Given the description of an element on the screen output the (x, y) to click on. 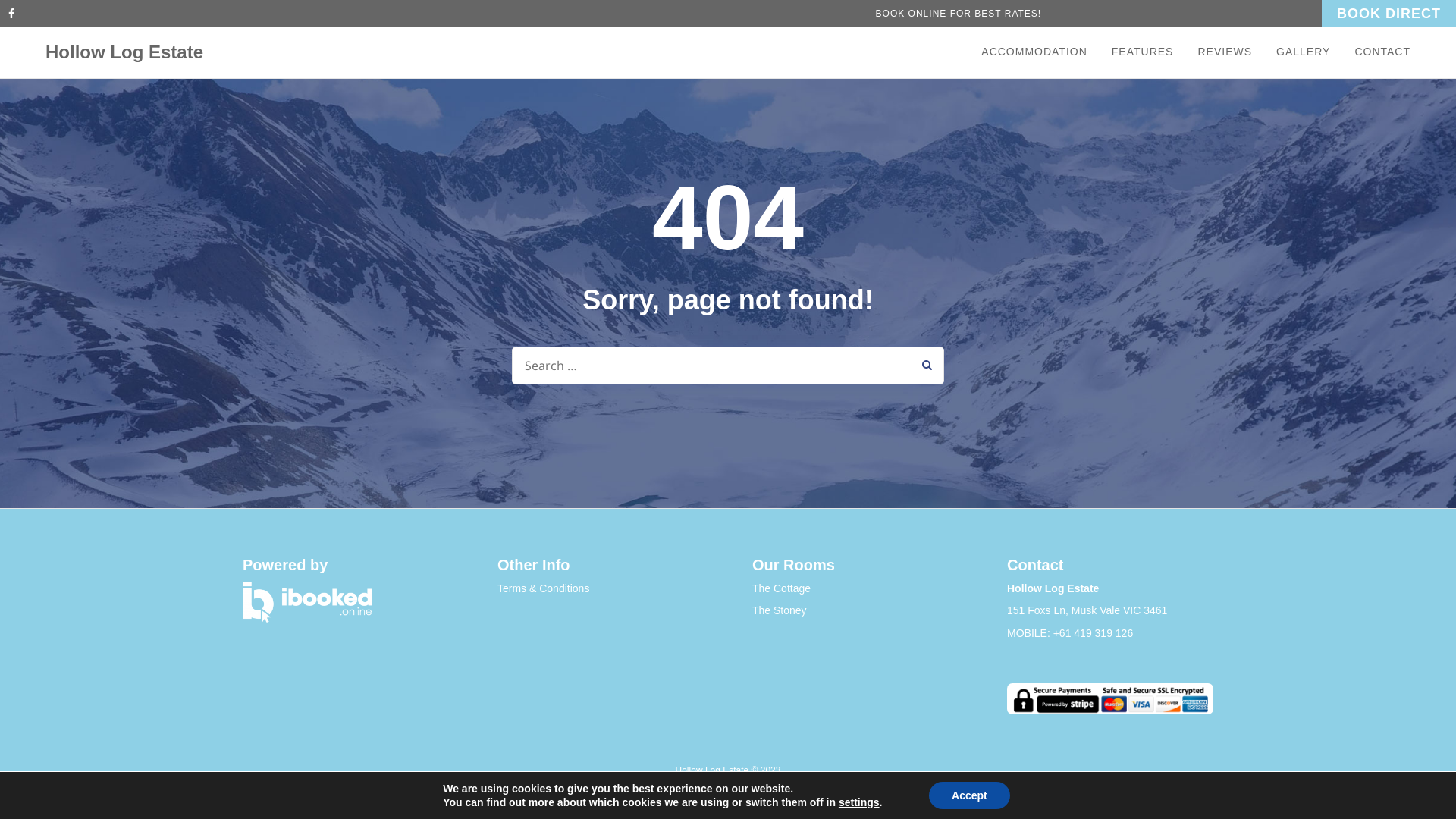
CONTACT Element type: text (1376, 52)
Hollow Log Estate Element type: text (124, 51)
The Cottage Element type: text (781, 588)
ACCOMMODATION Element type: text (1040, 52)
The Stoney Element type: text (779, 610)
FACEBOOK Element type: text (15, 13)
GALLERY Element type: text (1303, 52)
REVIEWS Element type: text (1224, 52)
FEATURES Element type: text (1142, 52)
Terms & Conditions Element type: text (543, 588)
BOOK ONLINE FOR BEST RATES! Element type: text (958, 13)
Accept Element type: text (969, 795)
